Given the description of an element on the screen output the (x, y) to click on. 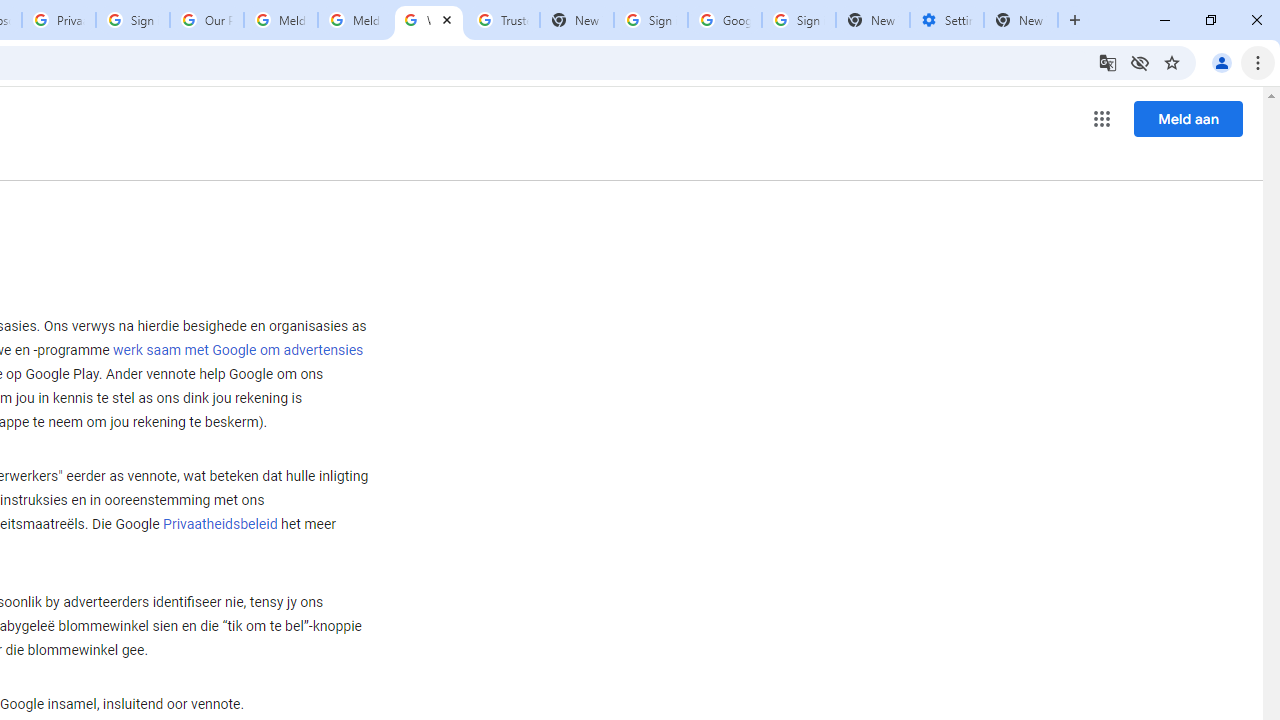
New Tab (872, 20)
Settings - Addresses and more (947, 20)
Trusted Information and Content - Google Safety Center (502, 20)
Google-programme (1101, 118)
Privaatheidsbeleid (219, 525)
Sign in - Google Accounts (651, 20)
Sign in - Google Accounts (133, 20)
